Given the description of an element on the screen output the (x, y) to click on. 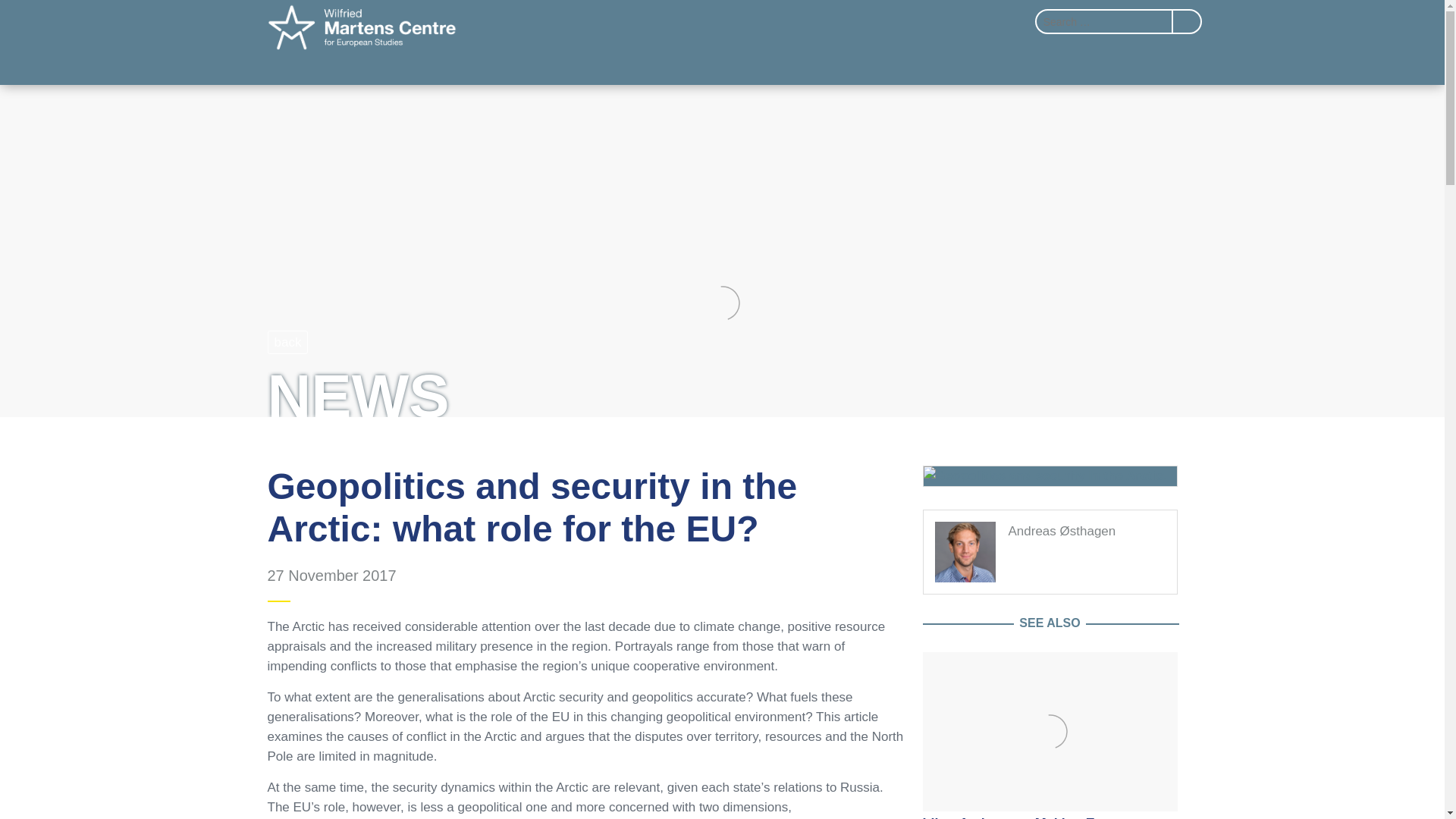
Download the news (1049, 476)
back (286, 341)
Liber Amicorum: Making Europe Happen (1048, 728)
